Given the description of an element on the screen output the (x, y) to click on. 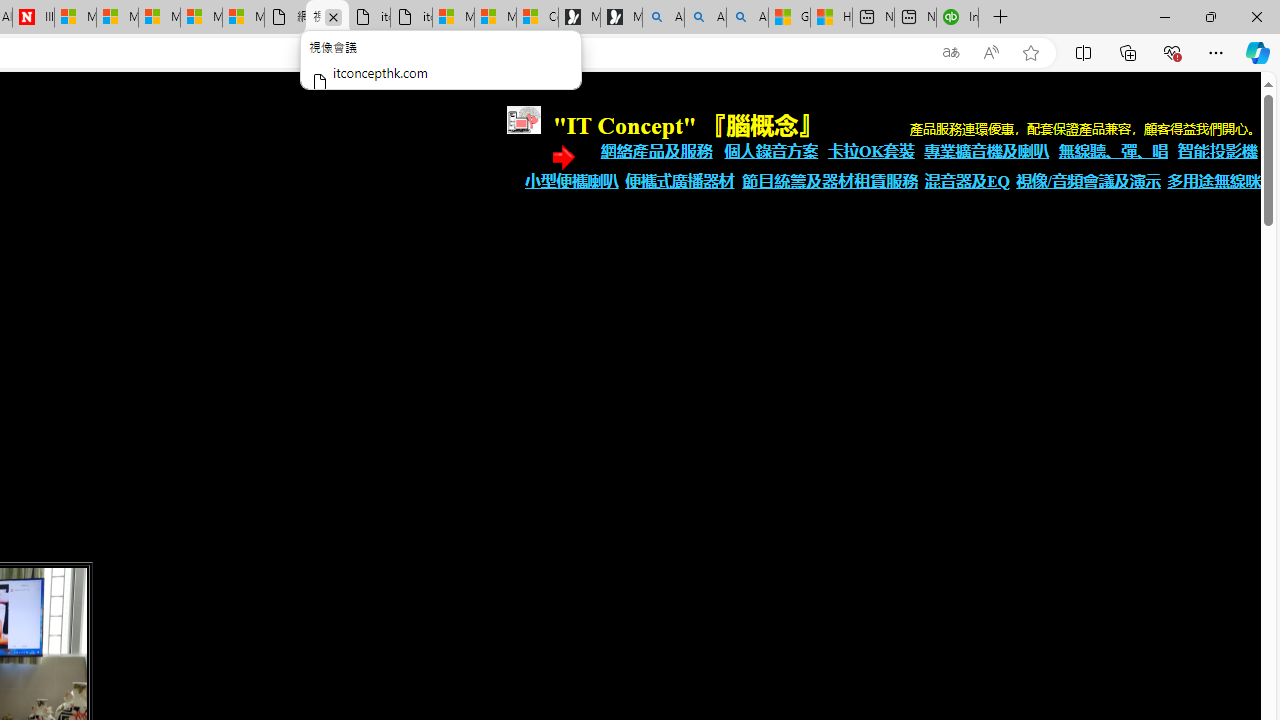
How to Use a TV as a Computer Monitor (831, 17)
Intuit QuickBooks Online - Quickbooks (957, 17)
Consumer Health Data Privacy Policy (537, 17)
Show translate options (950, 53)
